Given the description of an element on the screen output the (x, y) to click on. 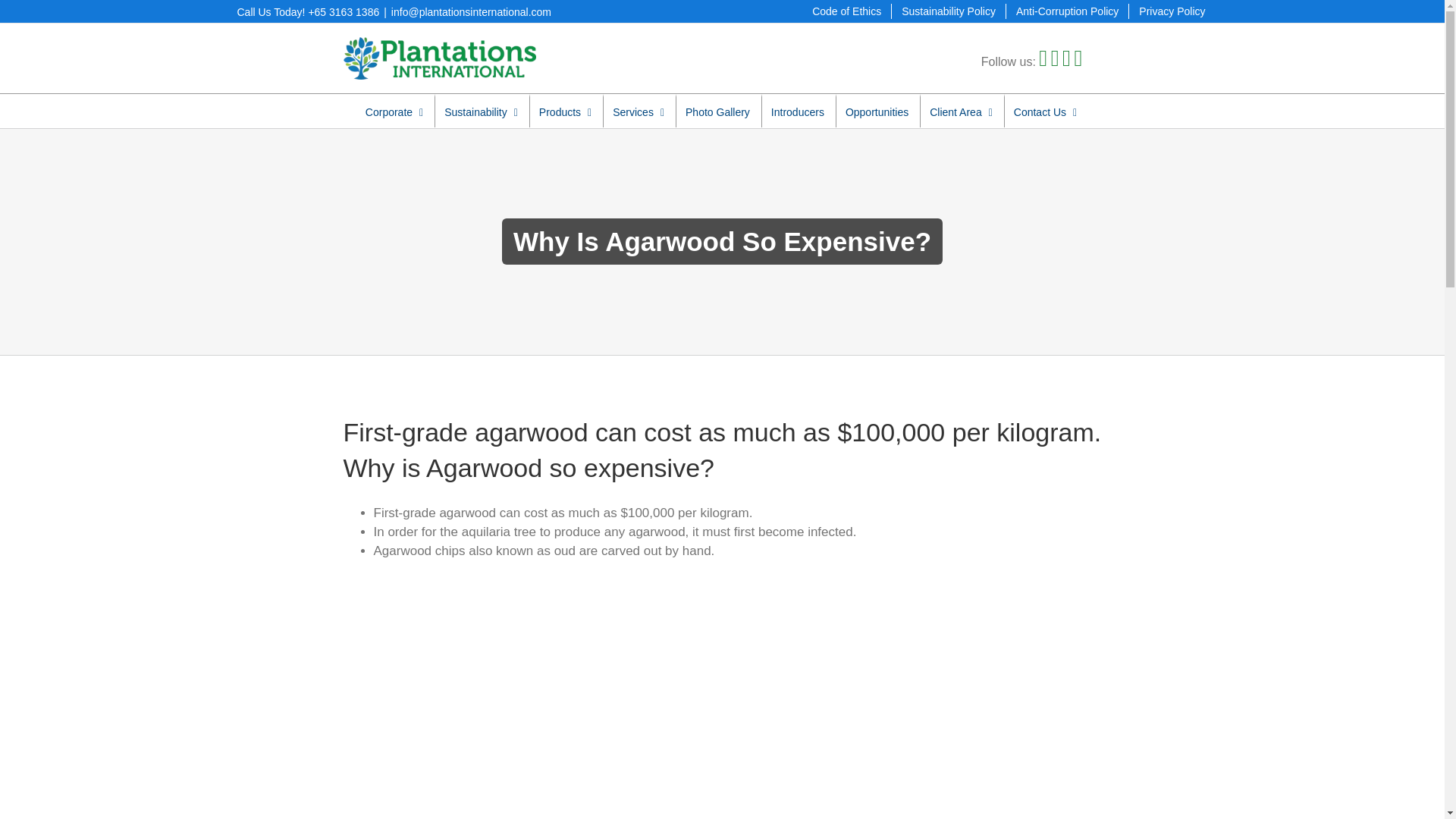
Privacy Policy (1171, 11)
Sustainability (480, 110)
Anti-Corruption Policy (1067, 11)
Corporate (394, 110)
Sustainability Policy (948, 11)
Code of Ethics (846, 11)
